Given the description of an element on the screen output the (x, y) to click on. 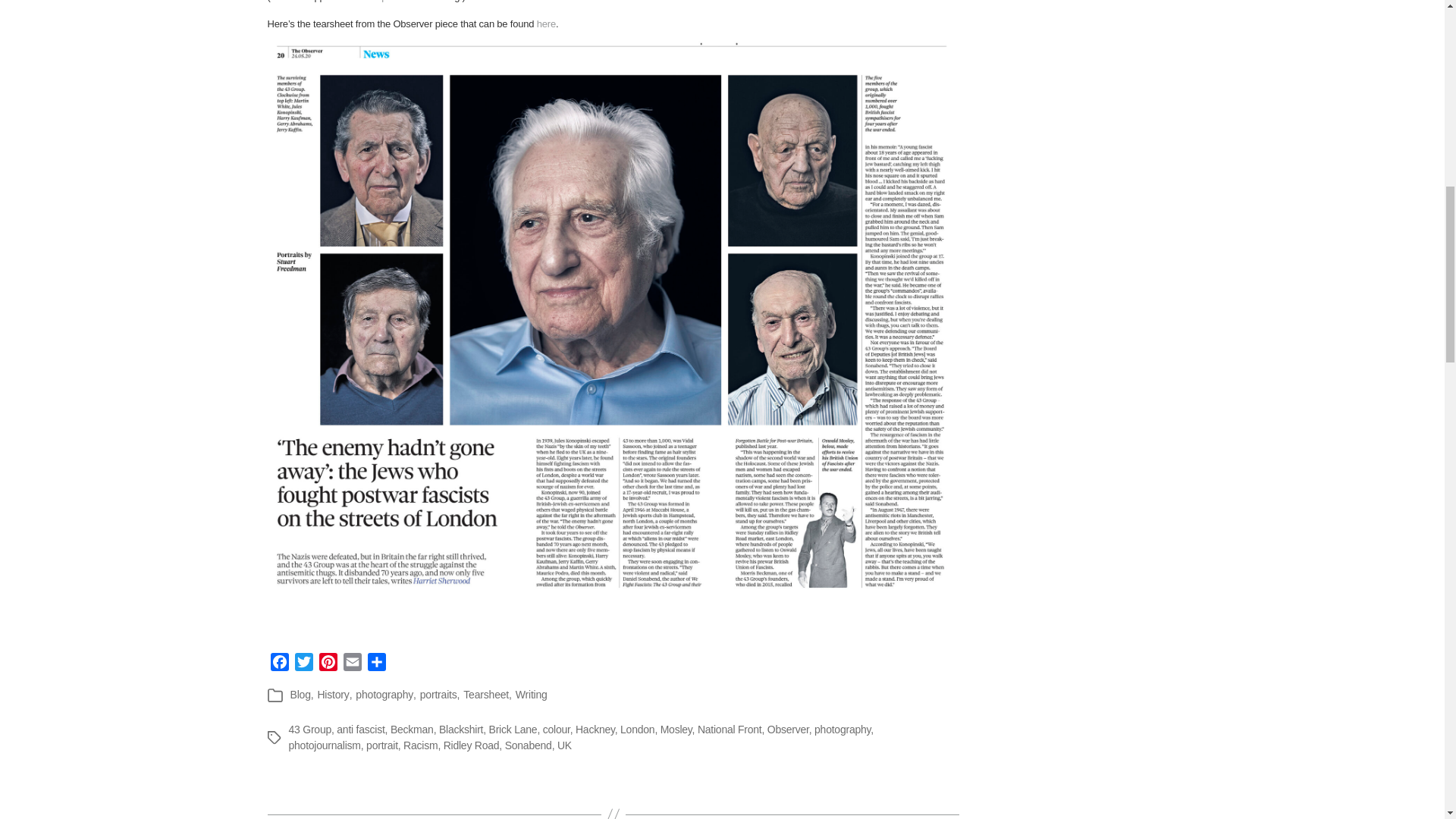
photography (384, 695)
Blackshirt (461, 729)
Brick Lane (513, 729)
London (636, 729)
Twitter (303, 664)
Pinterest (327, 664)
Tearsheet (485, 695)
Beckman (411, 729)
Facebook (278, 664)
here (546, 23)
